Given the description of an element on the screen output the (x, y) to click on. 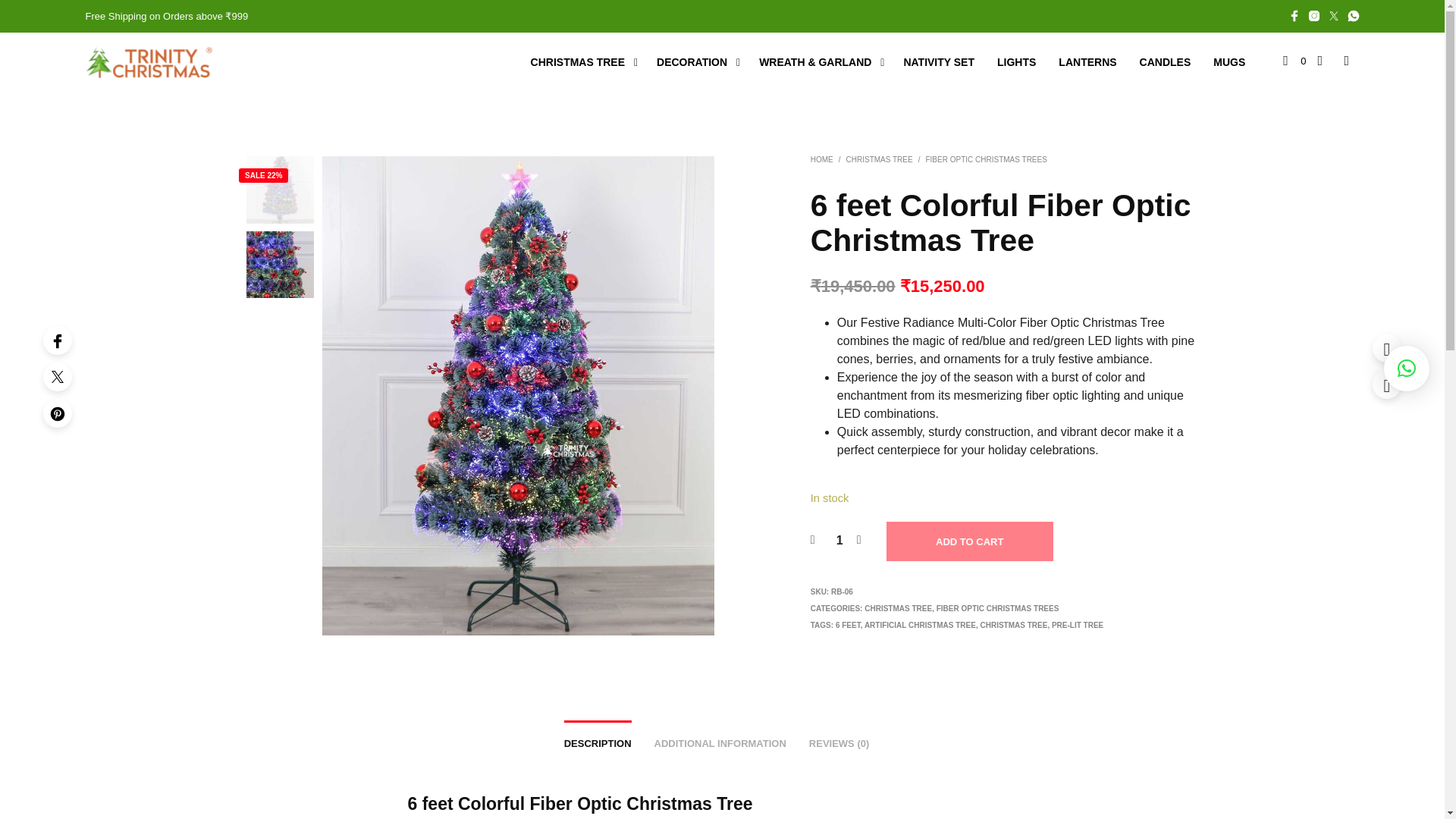
CHRISTMAS TREE (577, 62)
0 (1294, 61)
NATIVITY SET (938, 62)
HOME (821, 159)
DECORATION (691, 62)
LIGHTS (1015, 62)
1 (839, 540)
CANDLES (1165, 62)
MUGS (1229, 62)
LANTERNS (1086, 62)
